Given the description of an element on the screen output the (x, y) to click on. 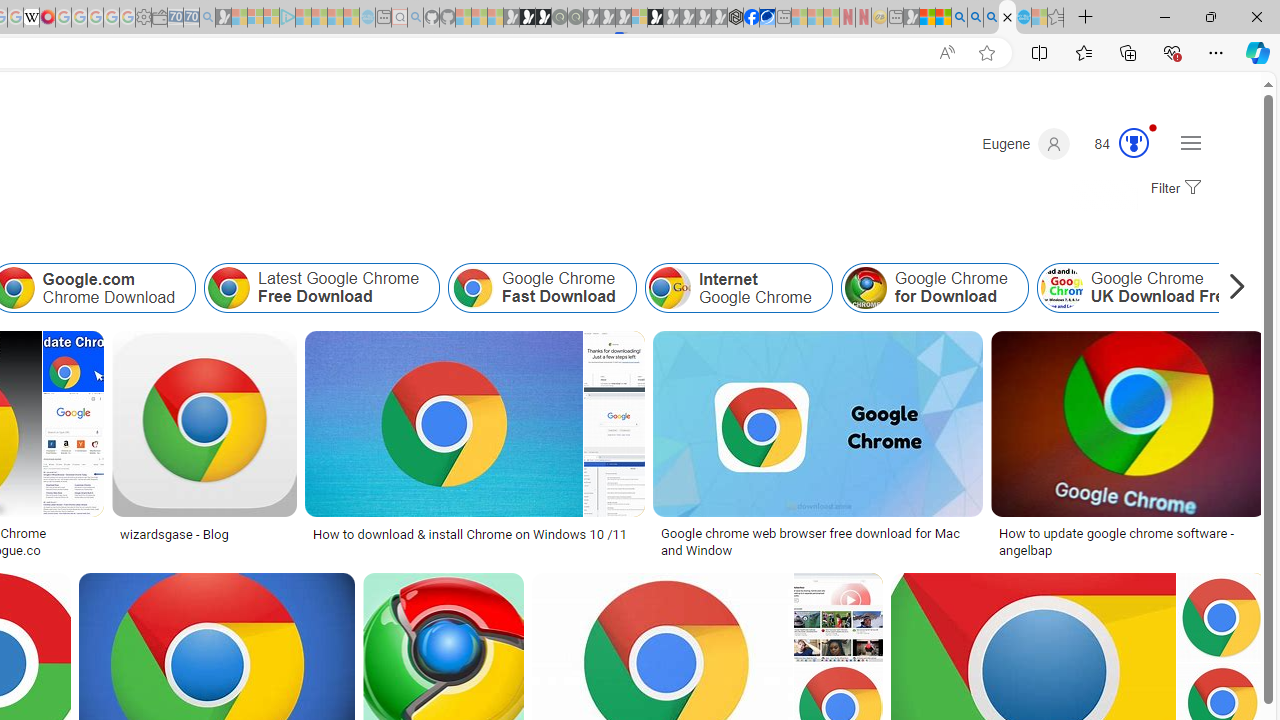
wizardsgase - Blog (204, 533)
Image result for Google Chrome Internet Browser Download (1221, 617)
Home | Sky Blue Bikes - Sky Blue Bikes - Sleeping (367, 17)
Wallet - Sleeping (159, 17)
New tab - Sleeping (895, 17)
Microsoft Rewards 84 (1115, 143)
wizardsgase - Blog (174, 533)
Google Chrome for Download (933, 287)
AutomationID: rh_meter (1133, 142)
Google Chrome Fast Download (473, 287)
